Given the description of an element on the screen output the (x, y) to click on. 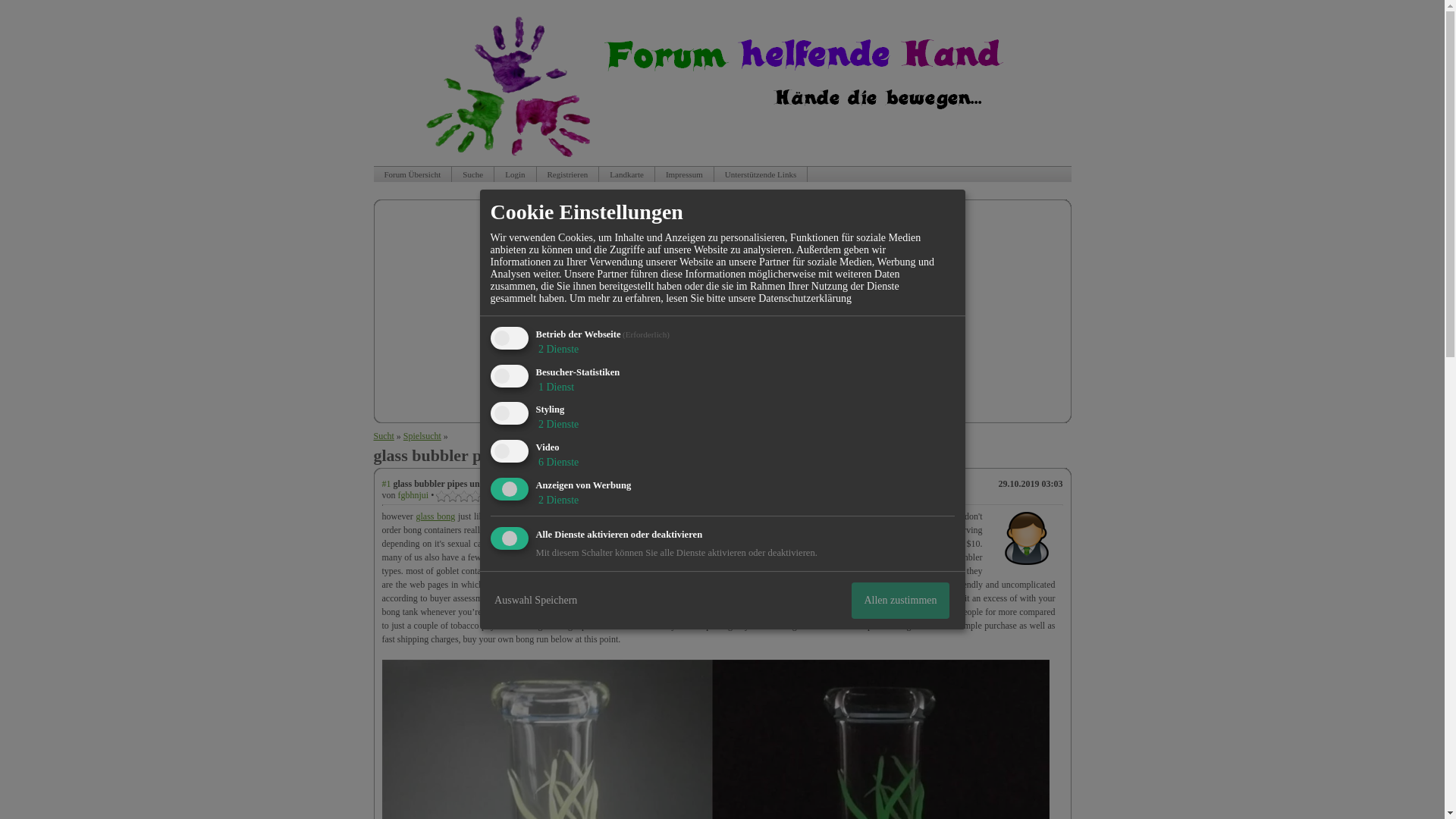
2 Dienste (556, 500)
2 Dienste (556, 423)
Spielsucht (422, 435)
6 Dienste (556, 461)
fgbhnjui (412, 494)
Landkarte (625, 174)
glass bong (435, 516)
1 Dienst (554, 387)
Impressum (684, 174)
Login (515, 174)
